Given the description of an element on the screen output the (x, y) to click on. 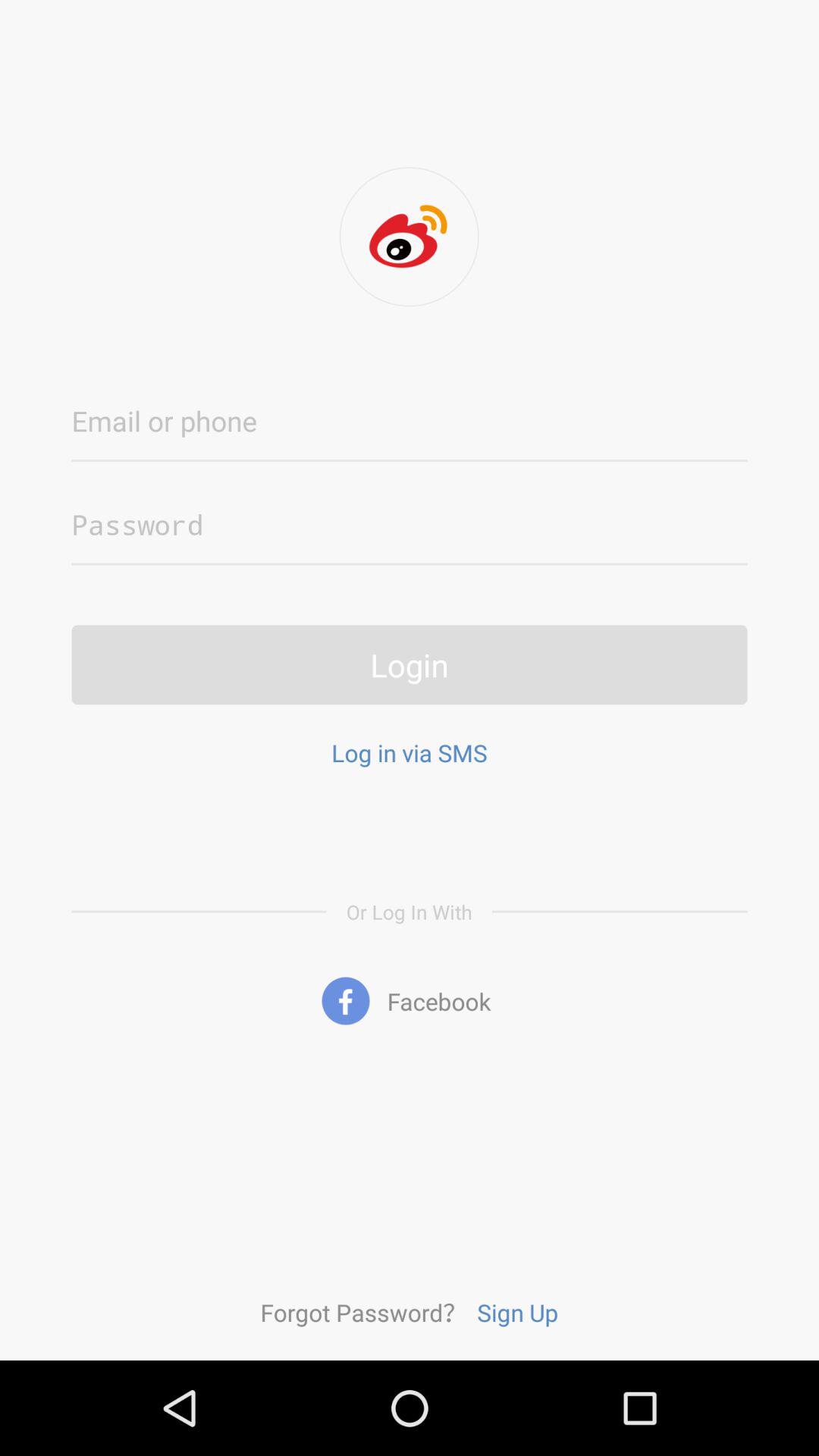
flip to facebook icon (409, 1000)
